Given the description of an element on the screen output the (x, y) to click on. 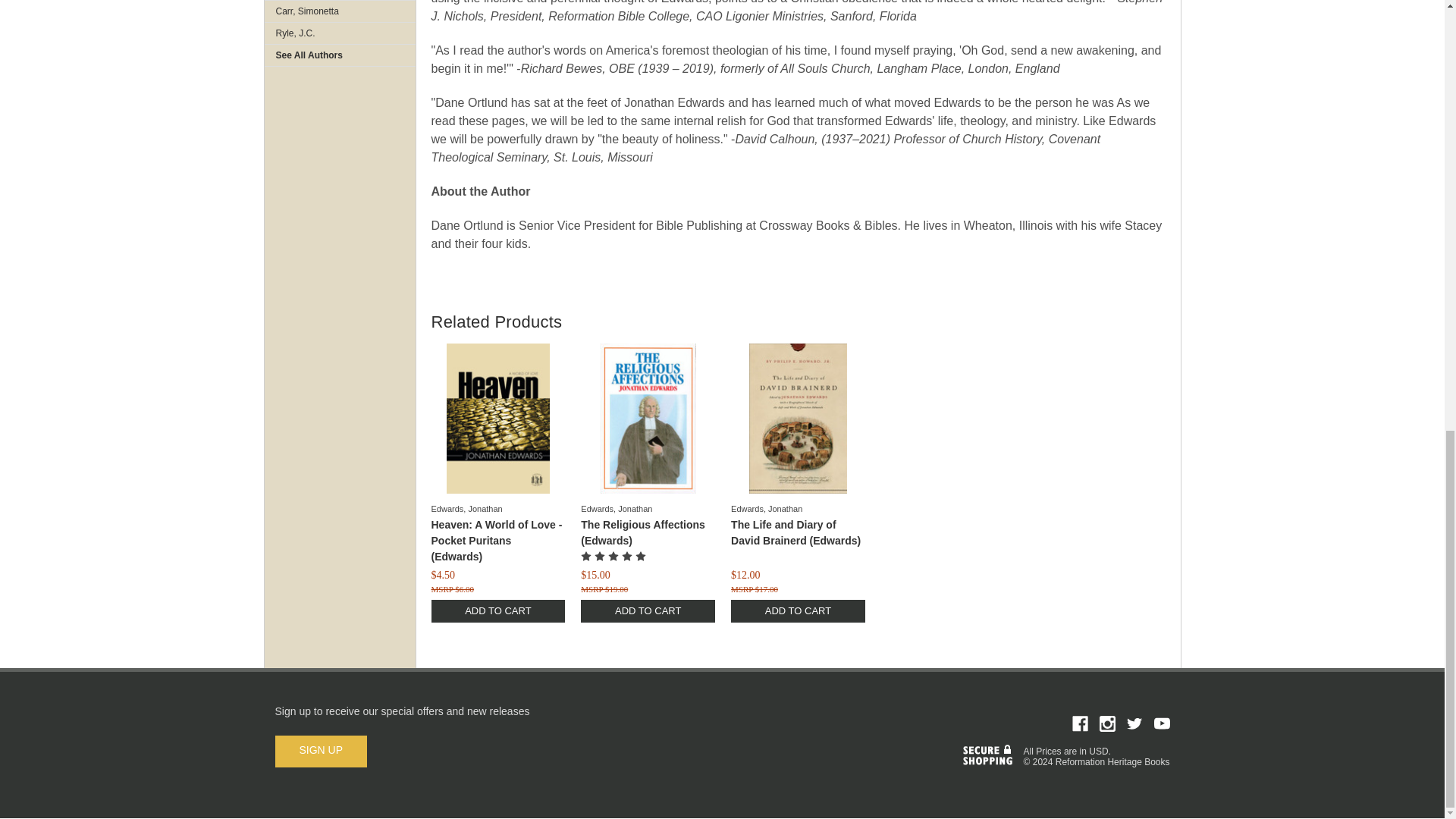
Add to Cart (647, 610)
twitter (1134, 723)
instagram (1107, 723)
facebook (1079, 723)
Add to Cart (797, 610)
youtube (1162, 723)
Add to Cart (497, 610)
